Given the description of an element on the screen output the (x, y) to click on. 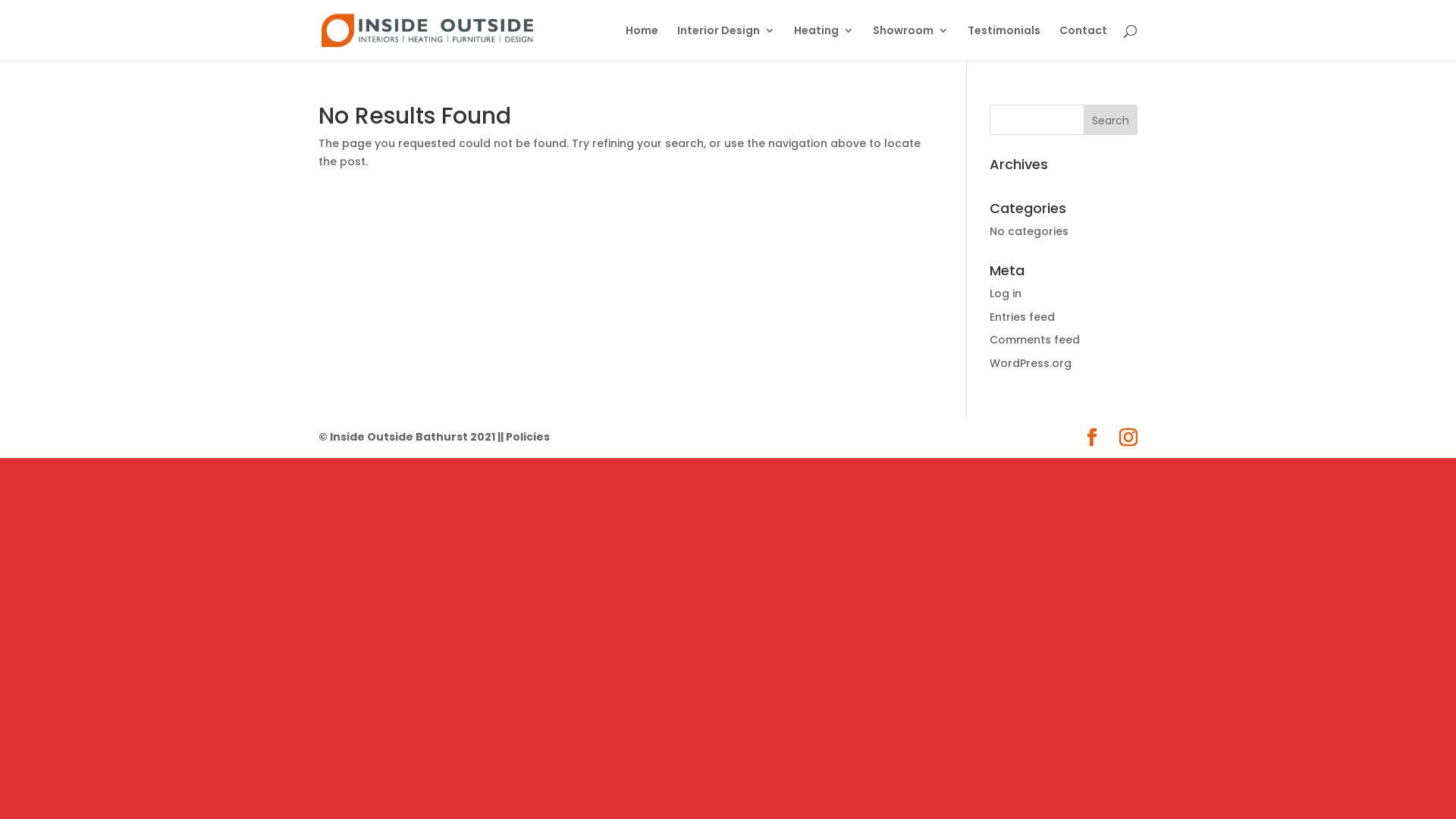
Log in Element type: text (1005, 293)
Interior Design Element type: text (726, 42)
Contact Element type: text (1083, 42)
Entries feed Element type: text (1021, 316)
Comments feed Element type: text (1034, 339)
Showroom Element type: text (910, 42)
WordPress.org Element type: text (1030, 362)
Policies Element type: text (527, 436)
Search Element type: text (1110, 119)
Heating Element type: text (823, 42)
Testimonials Element type: text (1003, 42)
Home Element type: text (641, 42)
